Given the description of an element on the screen output the (x, y) to click on. 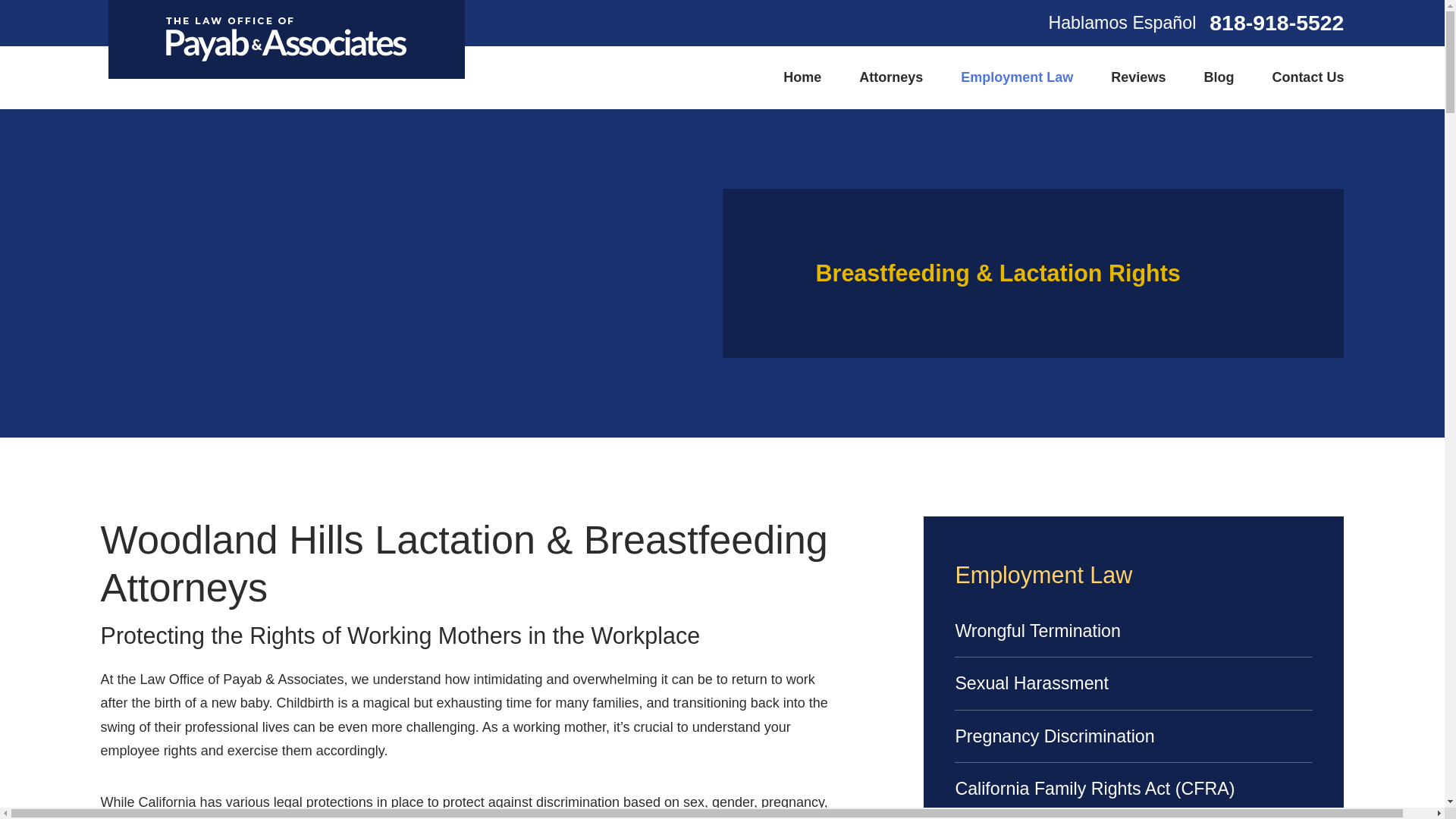
Attorneys (891, 76)
Home (802, 76)
Home (285, 39)
Reviews (1138, 76)
Employment Law (1016, 76)
Blog (1218, 76)
818-918-5522 (1276, 22)
